Given the description of an element on the screen output the (x, y) to click on. 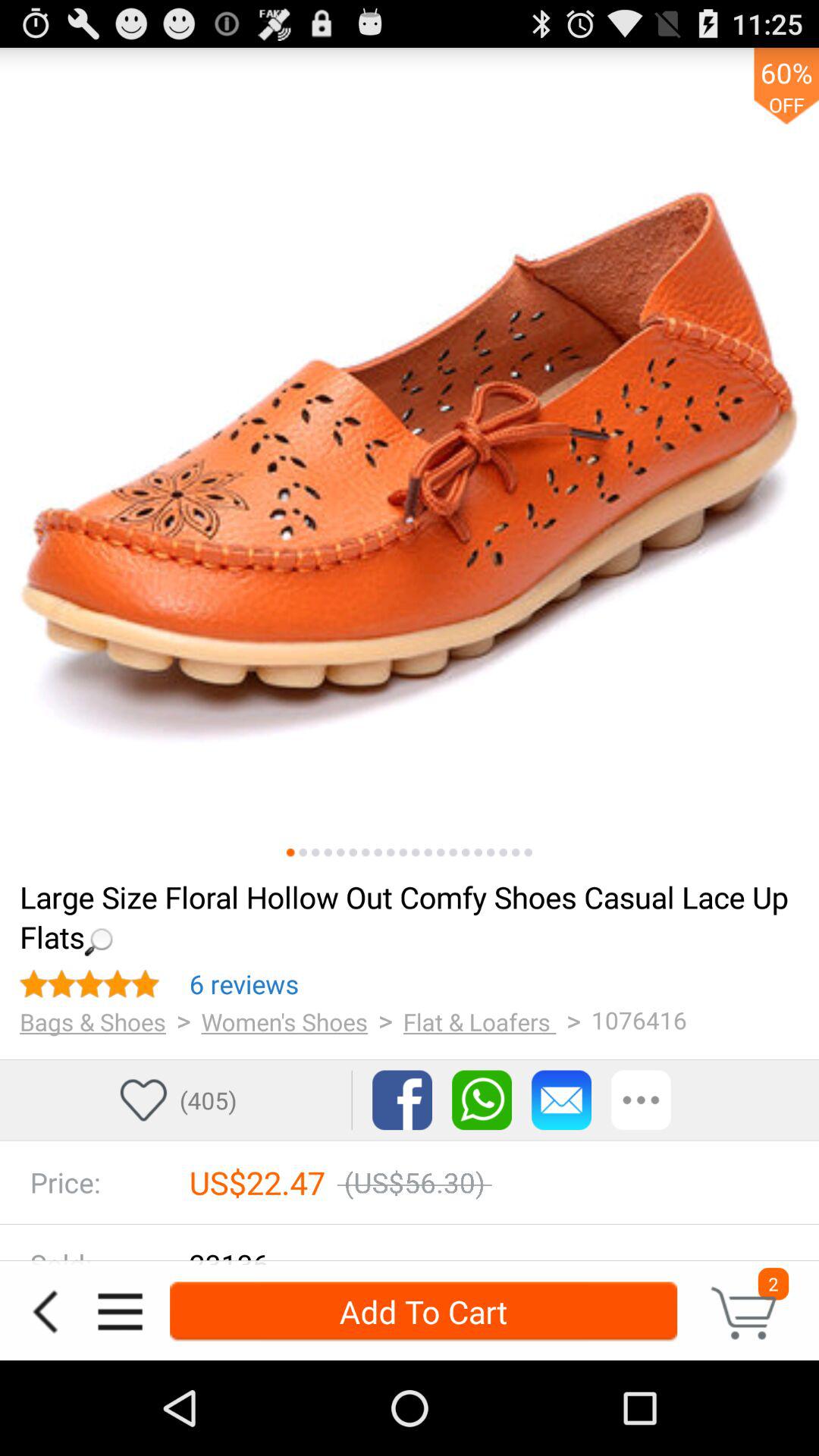
choose the app above the 6 reviews icon (407, 916)
